Given the description of an element on the screen output the (x, y) to click on. 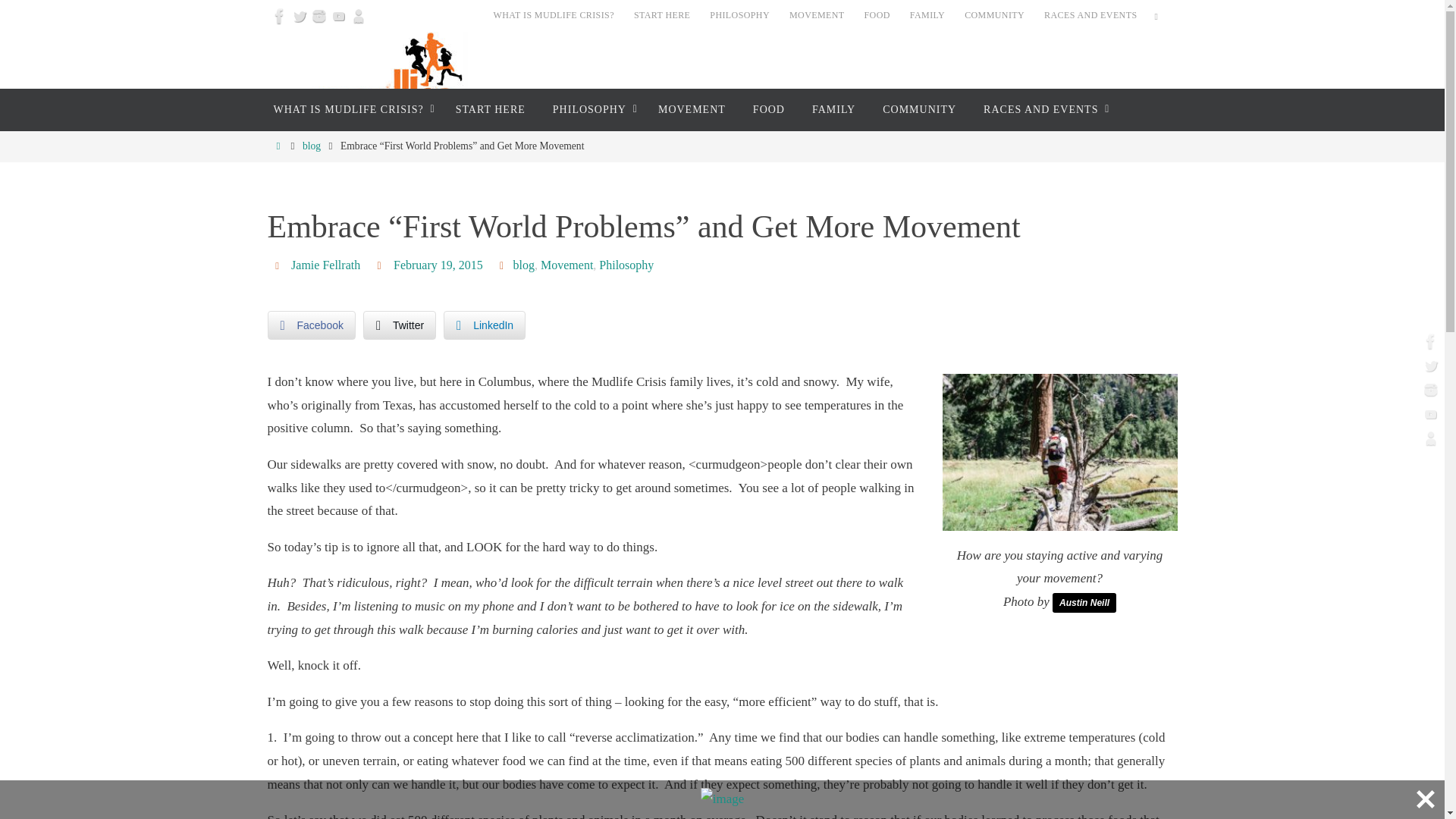
MOVEMENT (816, 14)
PHILOSOPHY (739, 14)
YouTube (338, 15)
PHILOSOPHY (591, 109)
Date (380, 264)
Mudlife Crisis (385, 88)
Author  (278, 264)
START HERE (661, 14)
COMMUNITY (919, 109)
Twitter (298, 15)
MOVEMENT (692, 109)
View all posts by Jamie Fellrath (325, 264)
WHAT IS MUDLIFE CRISIS? (553, 14)
FAMILY (927, 14)
COMMUNITY (994, 14)
